Given the description of an element on the screen output the (x, y) to click on. 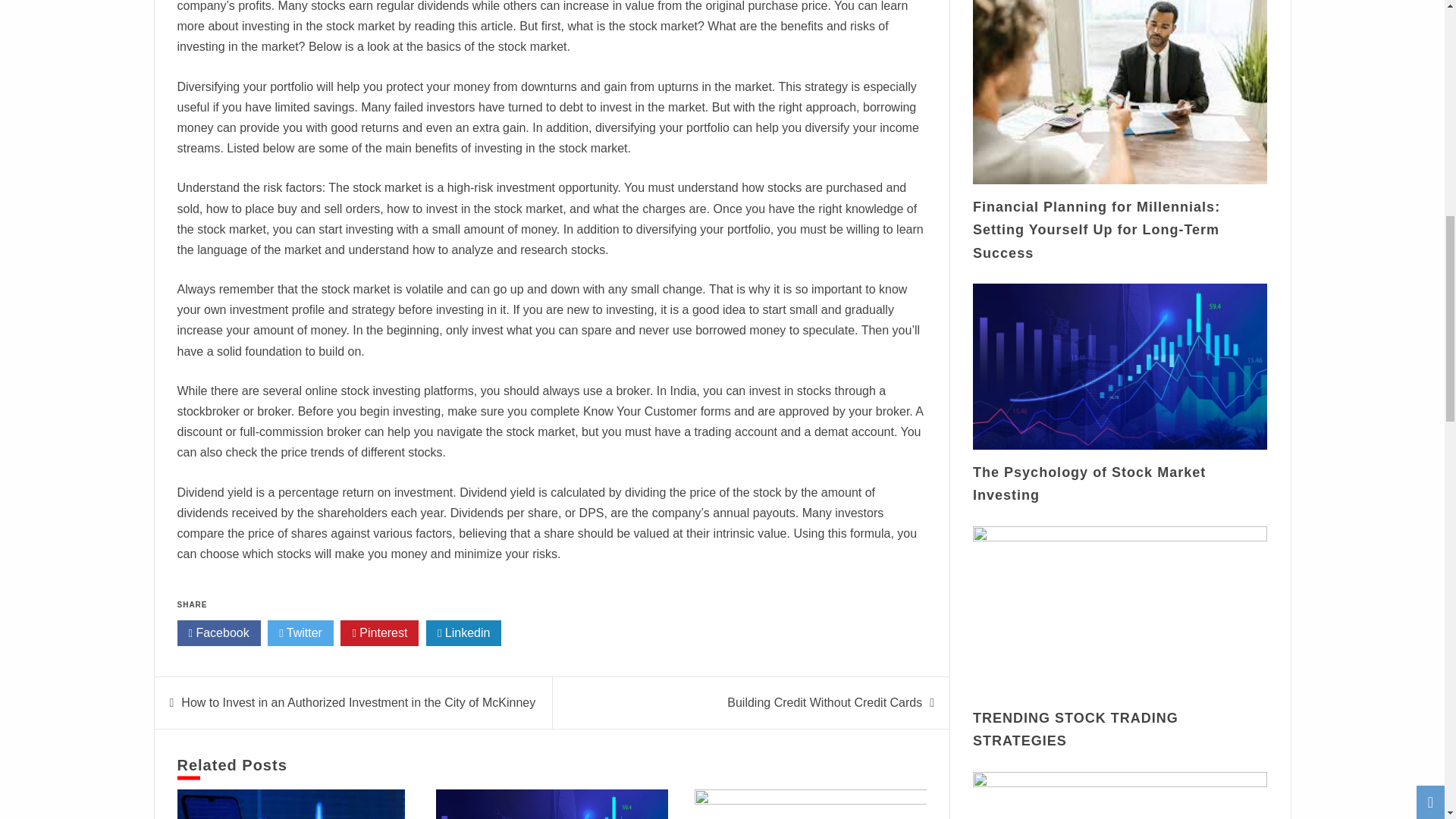
Twitter (300, 632)
Linkedin (464, 632)
Pinterest (379, 632)
The Psychology of Stock Market Investing (1088, 483)
Building Credit Without Credit Cards (823, 702)
Facebook (218, 632)
